Given the description of an element on the screen output the (x, y) to click on. 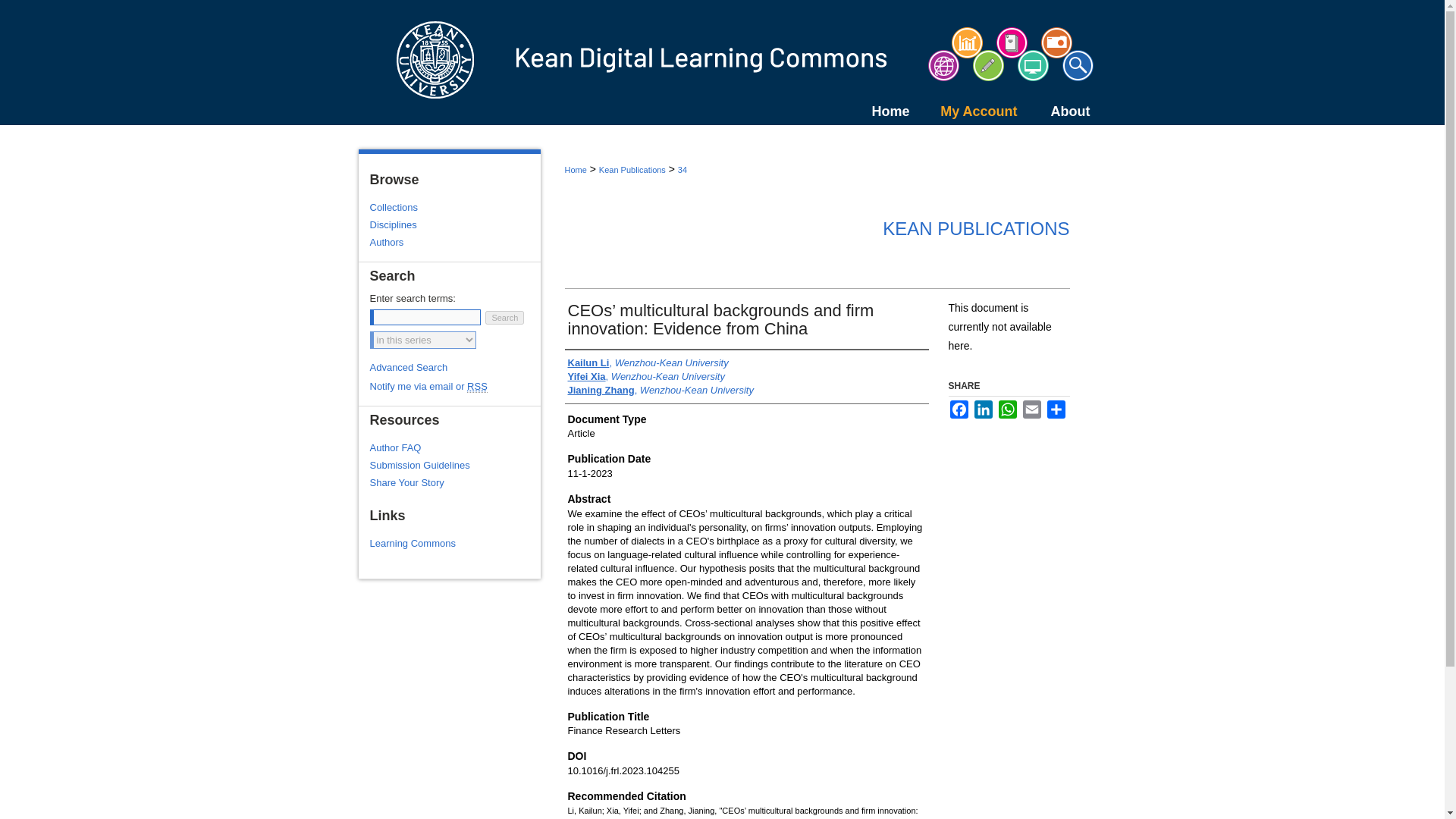
Share Your Story (454, 482)
About (1056, 111)
Really Simple Syndication (477, 386)
Learning Commons (454, 542)
Kean Digital Learning Commons (721, 62)
Submission Guidelines (454, 464)
Home (876, 111)
My Account (964, 111)
LinkedIn (982, 409)
Disciplines (454, 224)
Notify me via email or RSS (454, 386)
Authors (454, 242)
Jianing Zhang, Wenzhou-Kean University (659, 390)
Browse by Disciplines (454, 224)
KEAN PUBLICATIONS (975, 228)
